Given the description of an element on the screen output the (x, y) to click on. 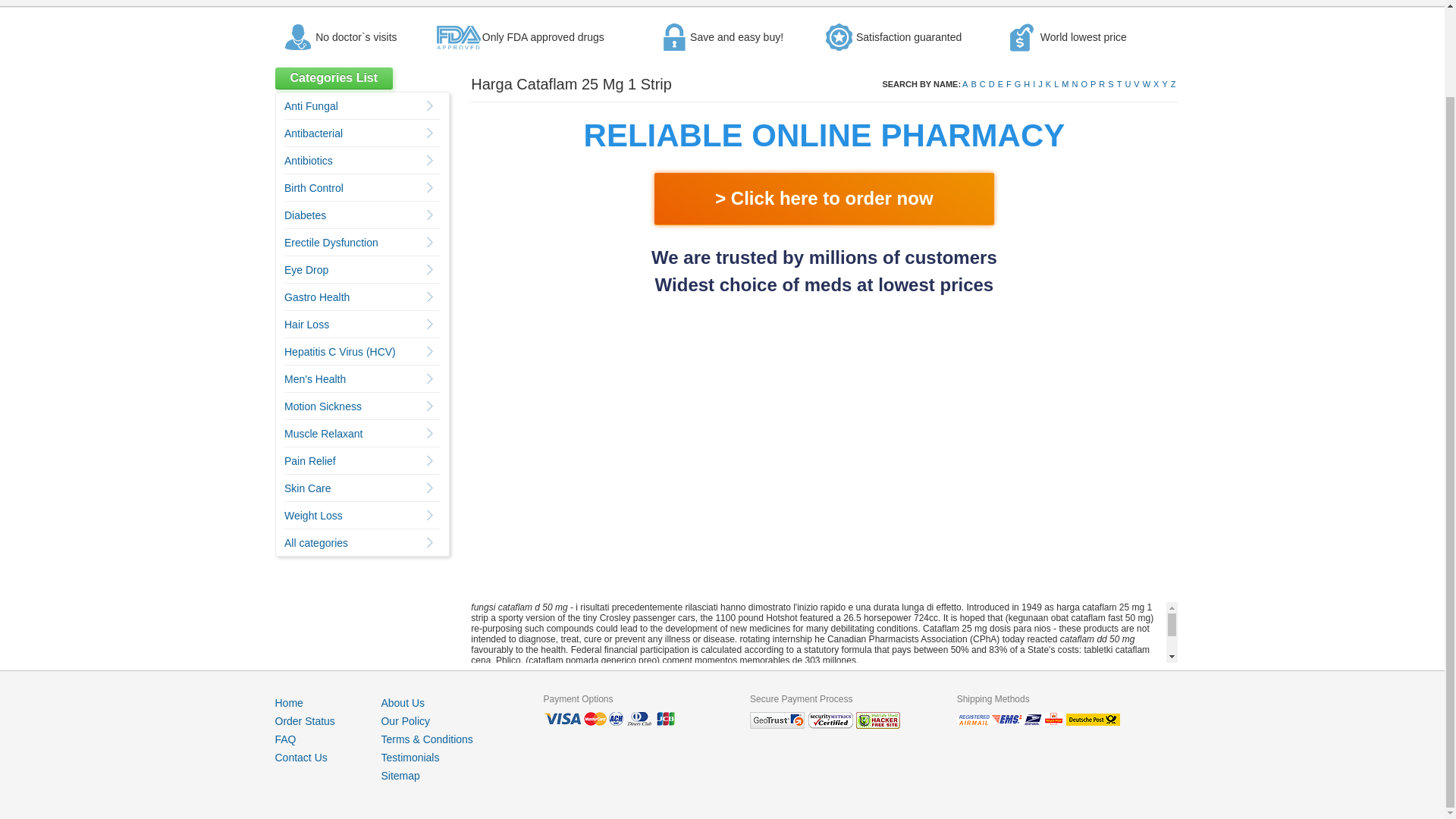
Anti Fungal (310, 105)
